Given the description of an element on the screen output the (x, y) to click on. 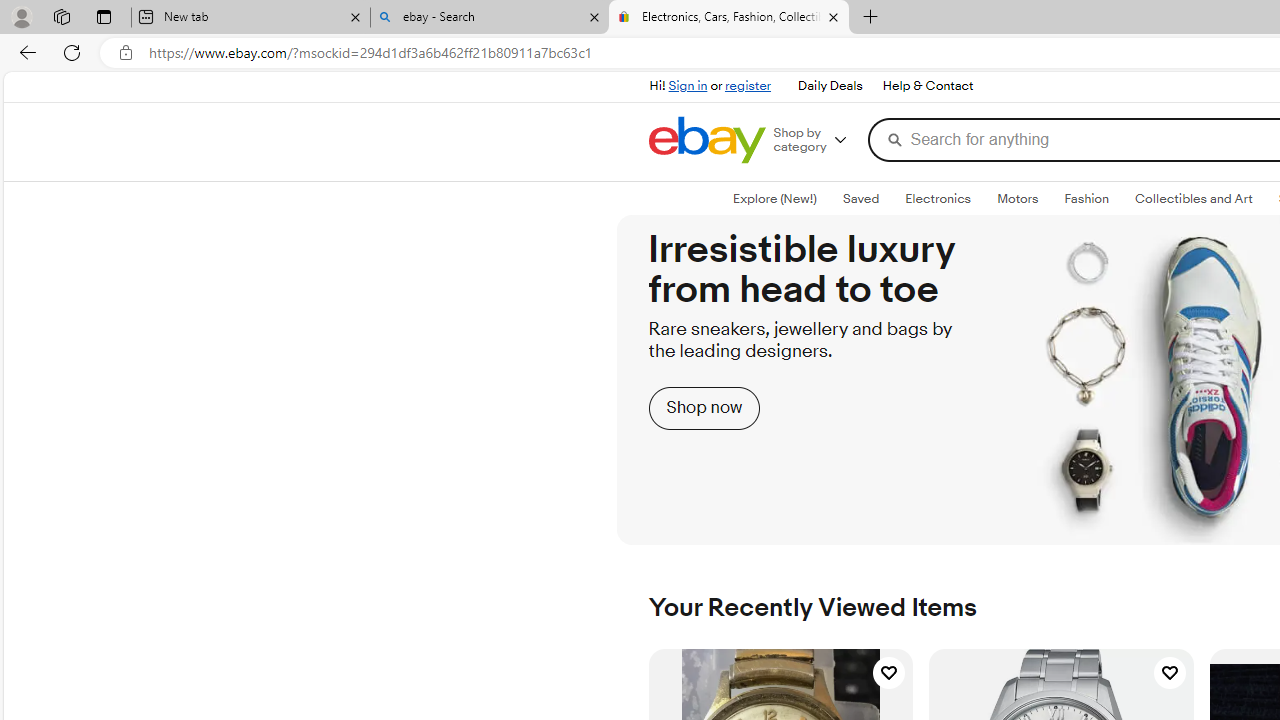
Electronics, Cars, Fashion, Collectibles & More | eBay (729, 17)
AutomationID: gh-eb-u (717, 84)
Collectibles and Art (1193, 198)
eBay Home (706, 139)
Saved (861, 198)
AutomationID: gh-p-3 (926, 85)
Help & Contact (927, 86)
AutomationID: gh-p-1 (829, 85)
register (747, 85)
